Given the description of an element on the screen output the (x, y) to click on. 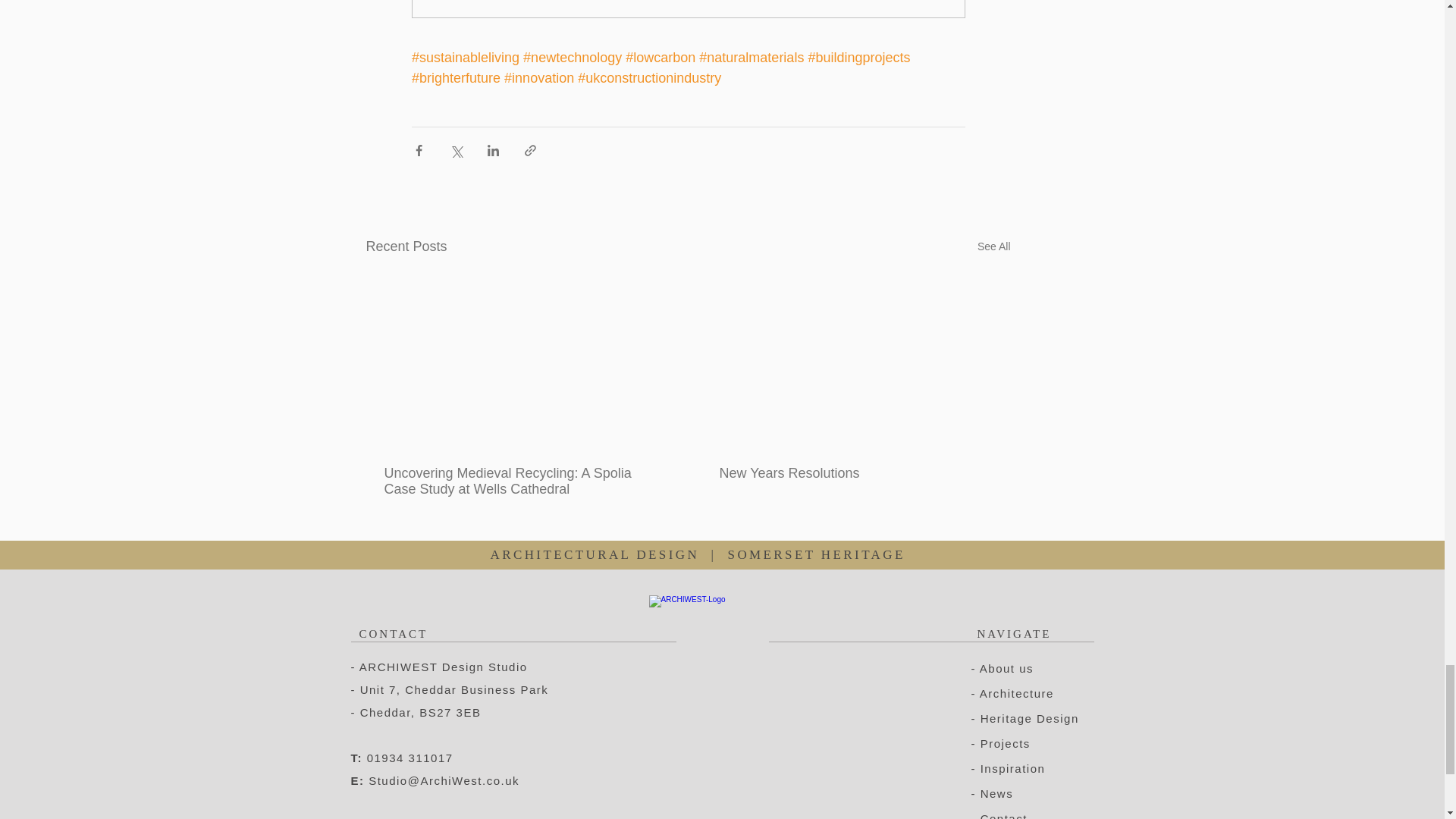
See All (993, 246)
New Years Resolutions (855, 473)
